Given the description of an element on the screen output the (x, y) to click on. 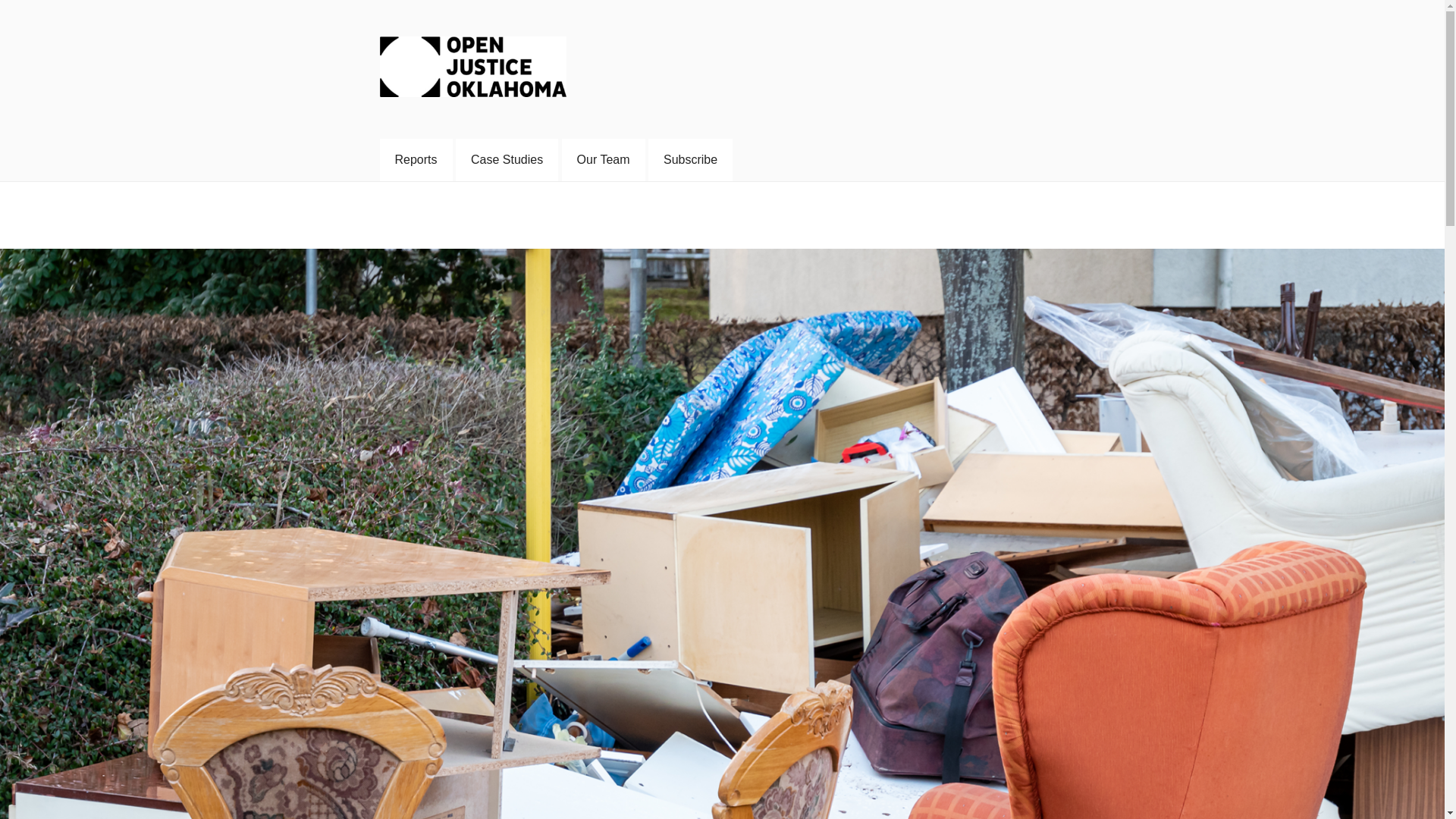
Subscribe (689, 159)
Our Team (603, 159)
Case Studies (506, 159)
Reports (414, 159)
OPEN JUSTICE OKLAHOMA (585, 119)
